Given the description of an element on the screen output the (x, y) to click on. 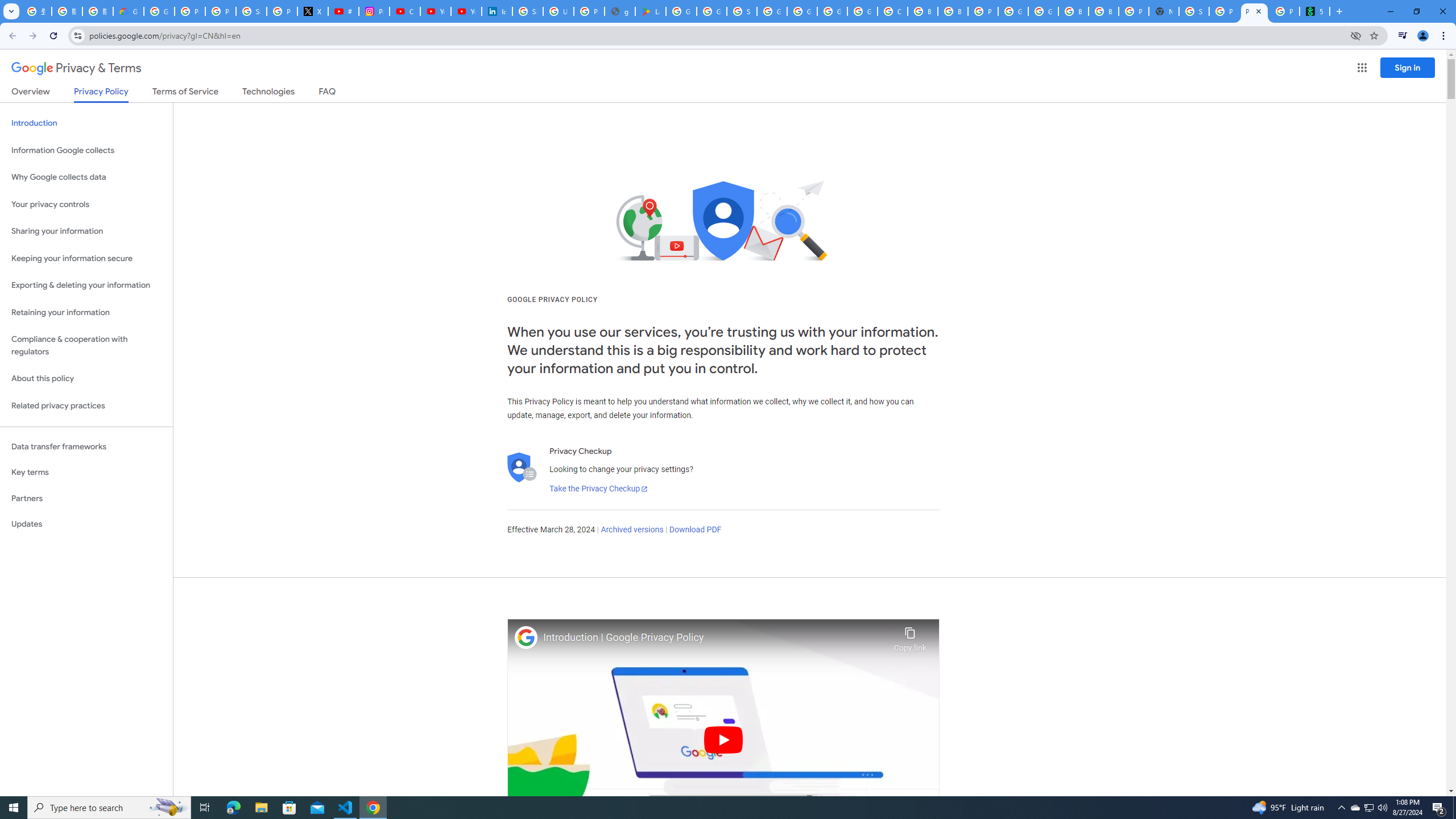
#nbabasketballhighlights - YouTube (343, 11)
